Given the description of an element on the screen output the (x, y) to click on. 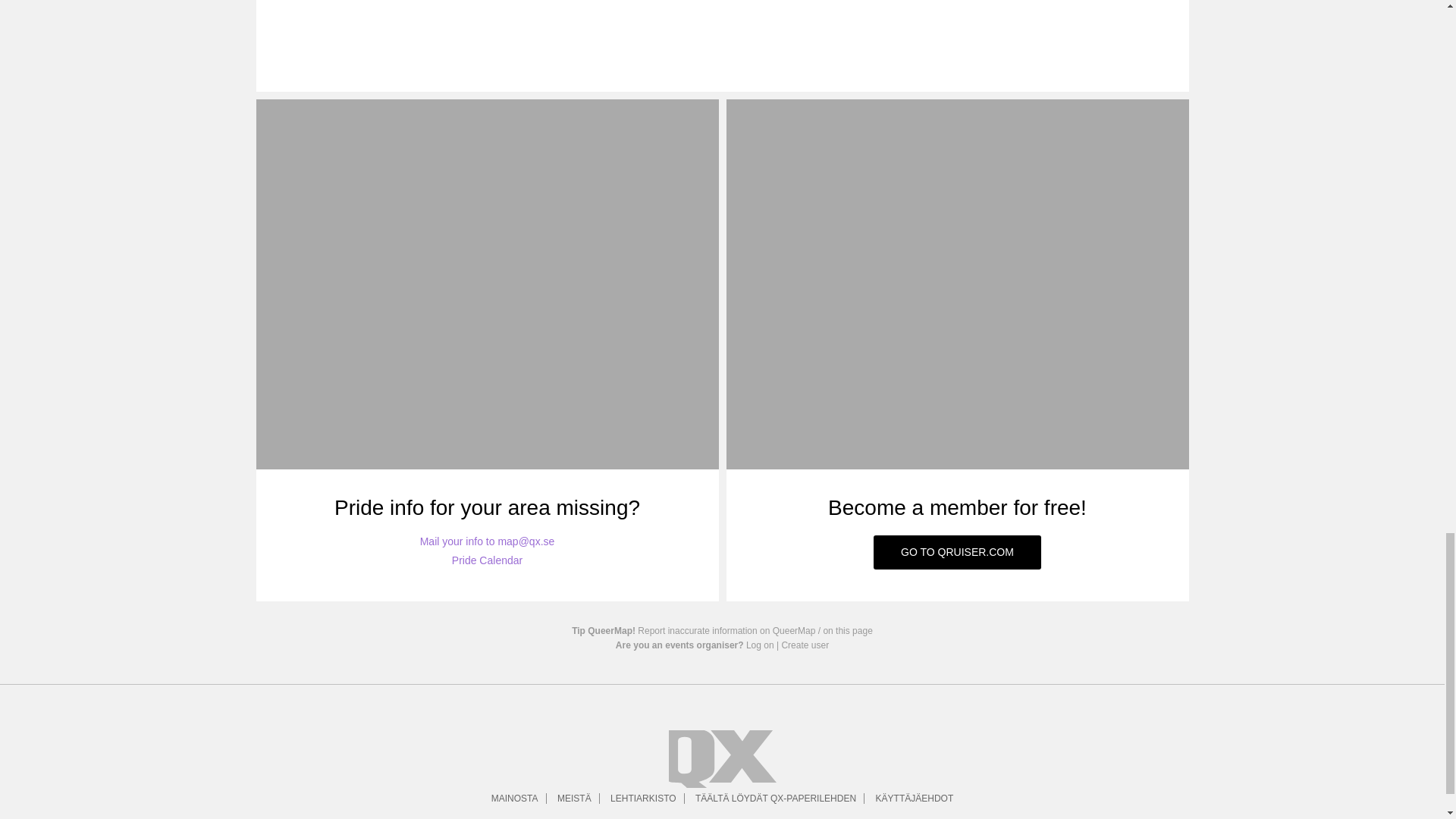
GO TO QRUISER.COM (957, 552)
Log on (759, 644)
MAINOSTA (515, 798)
Pride Calendar (486, 560)
Create user (804, 644)
